Given the description of an element on the screen output the (x, y) to click on. 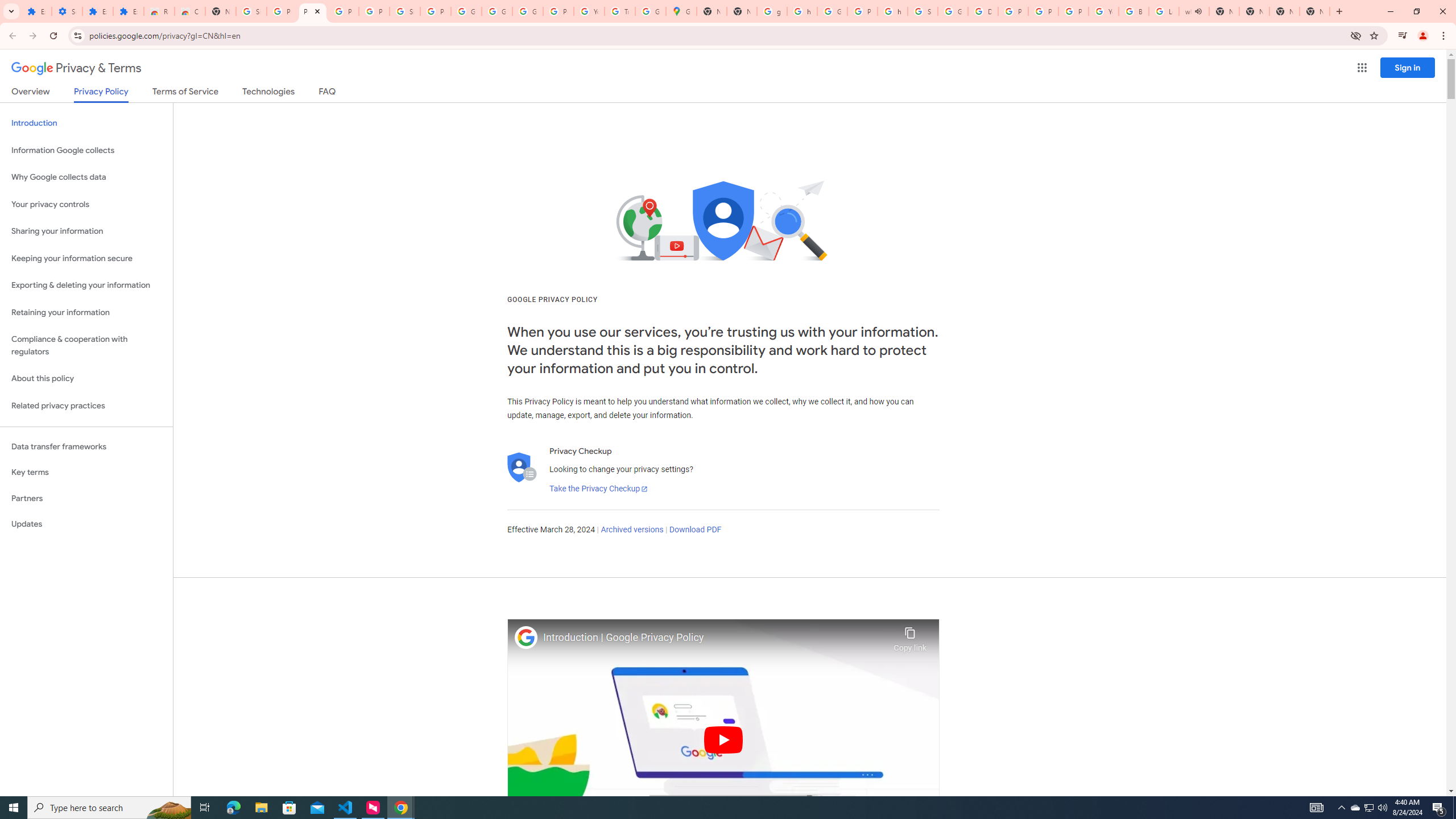
Browse Chrome as a guest - Computer - Google Chrome Help (1133, 11)
Introduction | Google Privacy Policy (715, 637)
Sign in - Google Accounts (251, 11)
Exporting & deleting your information (86, 284)
YouTube (589, 11)
Retaining your information (86, 312)
Updates (86, 524)
